Given the description of an element on the screen output the (x, y) to click on. 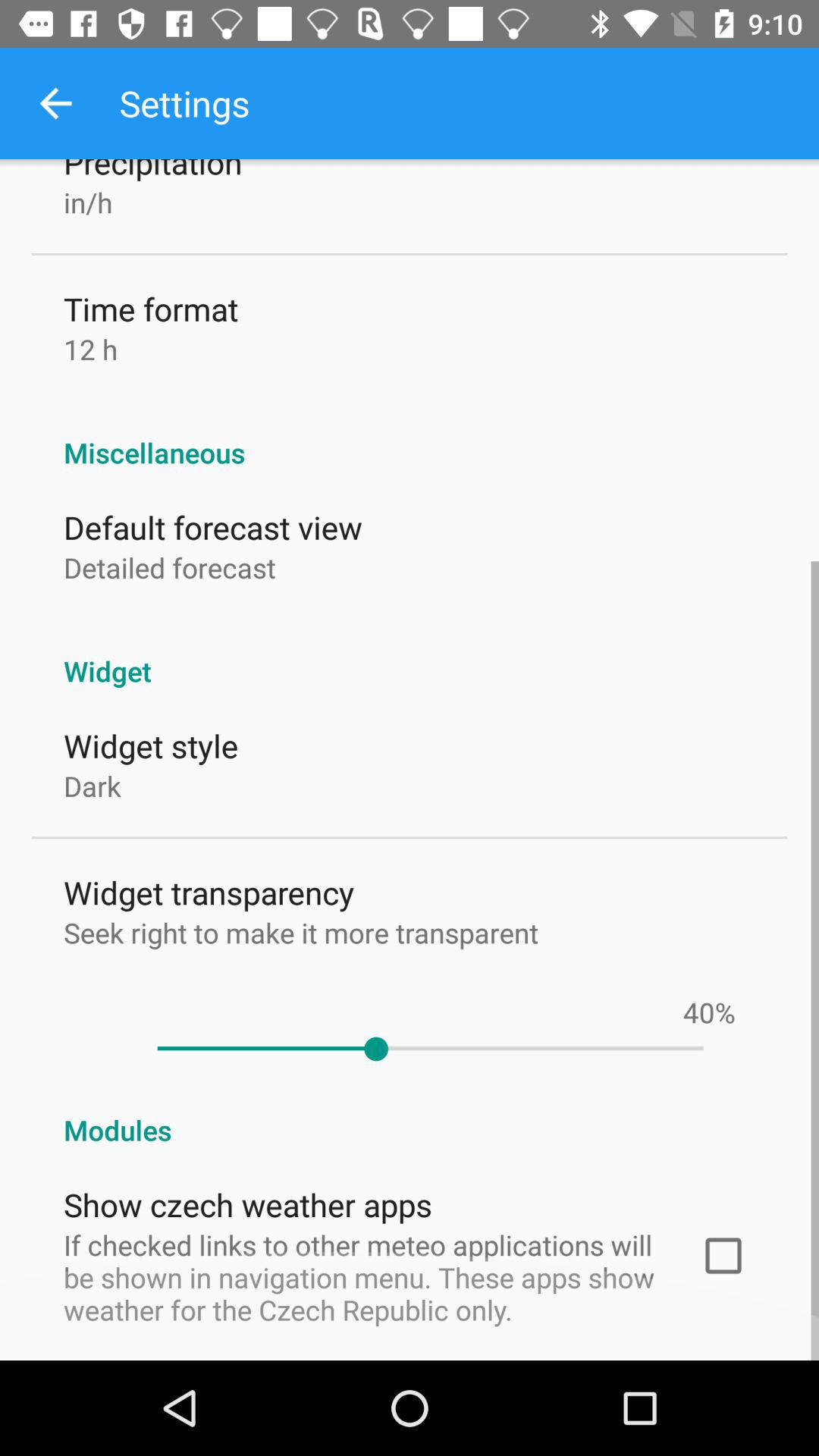
select the icon below miscellaneous (212, 526)
